Given the description of an element on the screen output the (x, y) to click on. 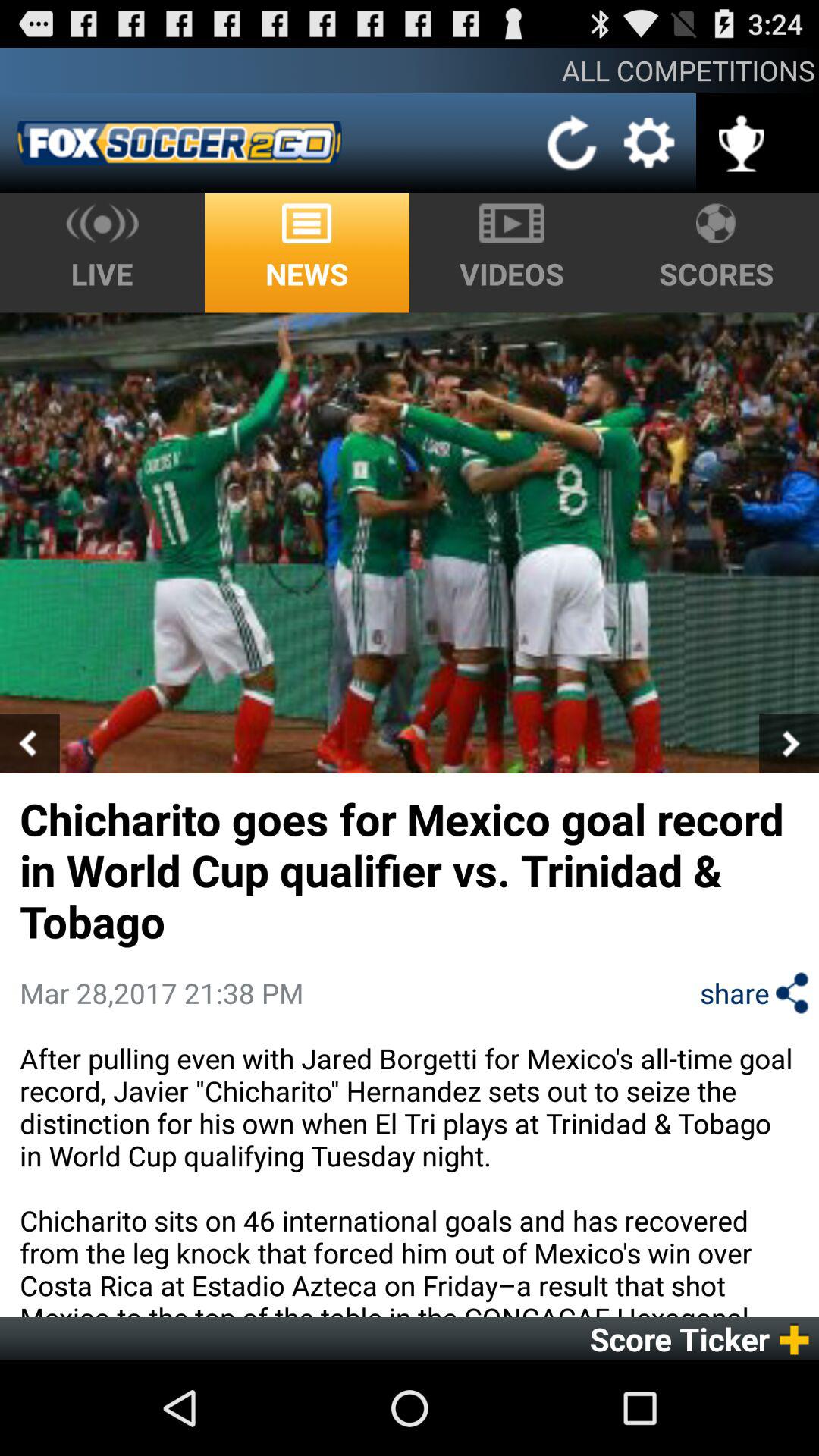
open the icon at the bottom (409, 1178)
